Given the description of an element on the screen output the (x, y) to click on. 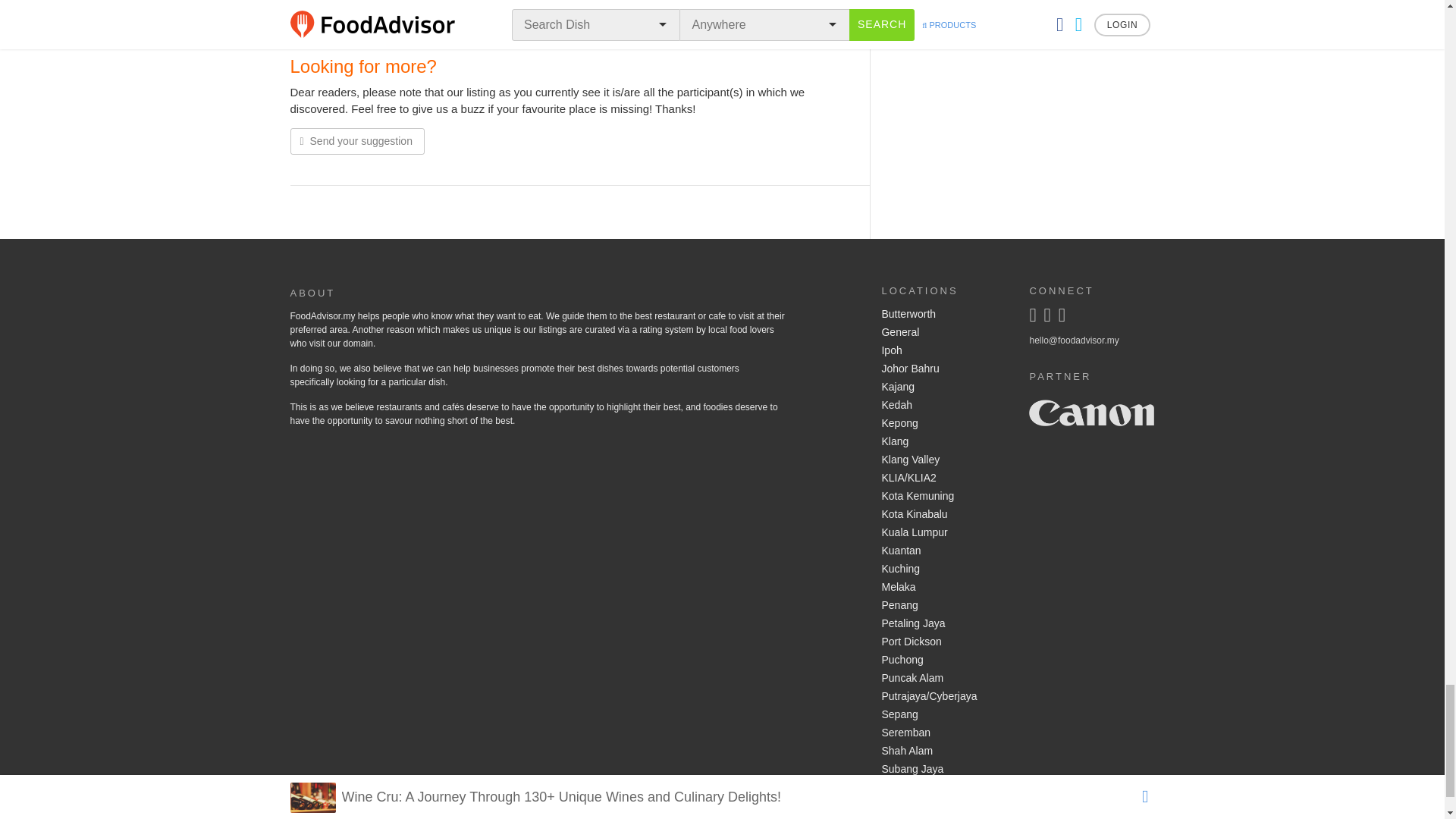
CITIES (818, 25)
Send your suggestion (356, 140)
OPEN NOW (545, 25)
TOP RATED (374, 25)
RECENTLY ADDED (460, 25)
